Given the description of an element on the screen output the (x, y) to click on. 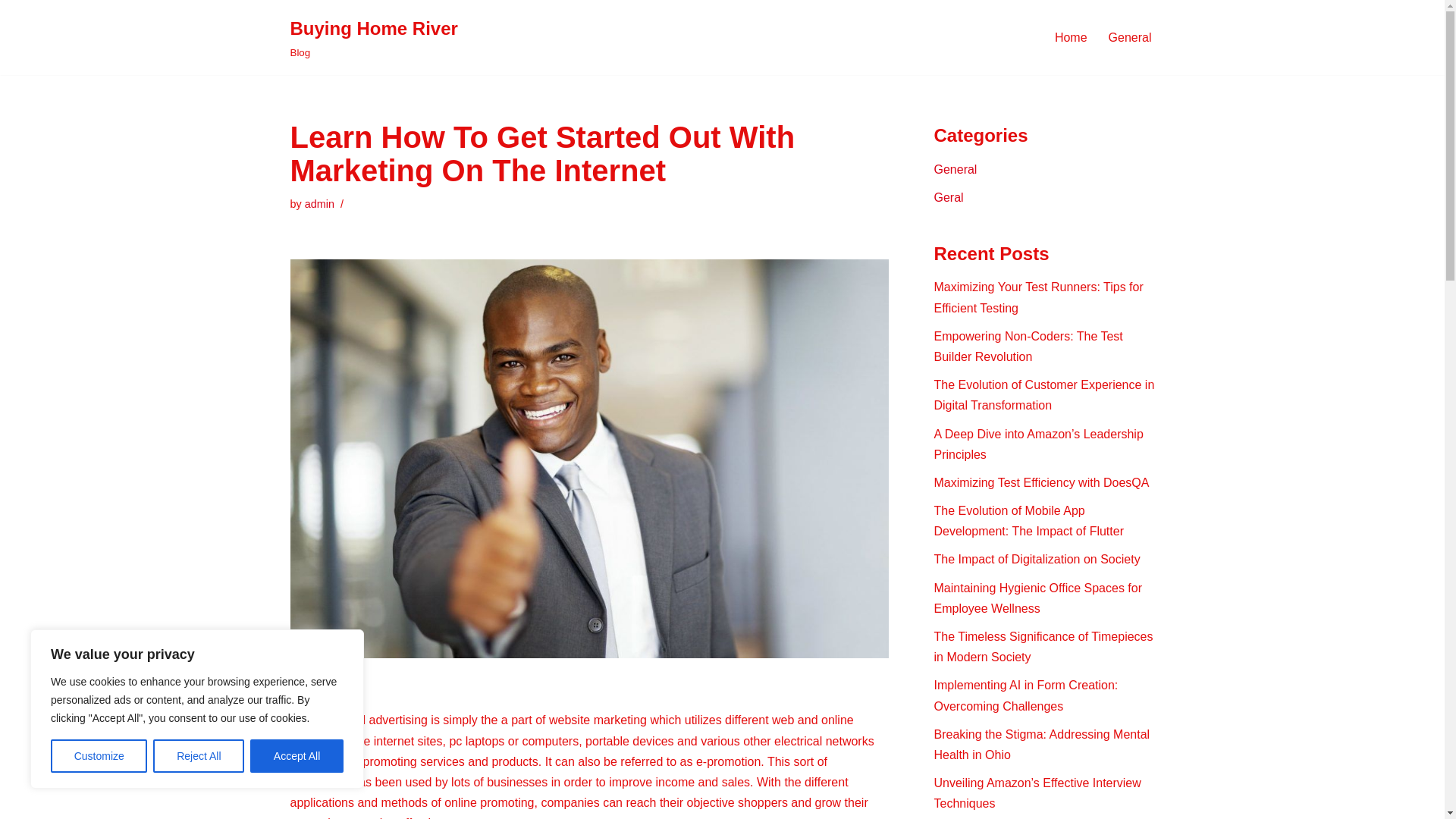
General (955, 169)
admin (319, 203)
Maximizing Test Efficiency with DoesQA (1042, 481)
The Impact of Digitalization on Society (1037, 558)
Maximizing Your Test Runners: Tips for Efficient Testing (1038, 296)
Customize (98, 756)
Home (1070, 37)
General (1129, 37)
Accept All (296, 756)
Geral (373, 37)
Posts by admin (948, 196)
Skip to content (319, 203)
